Given the description of an element on the screen output the (x, y) to click on. 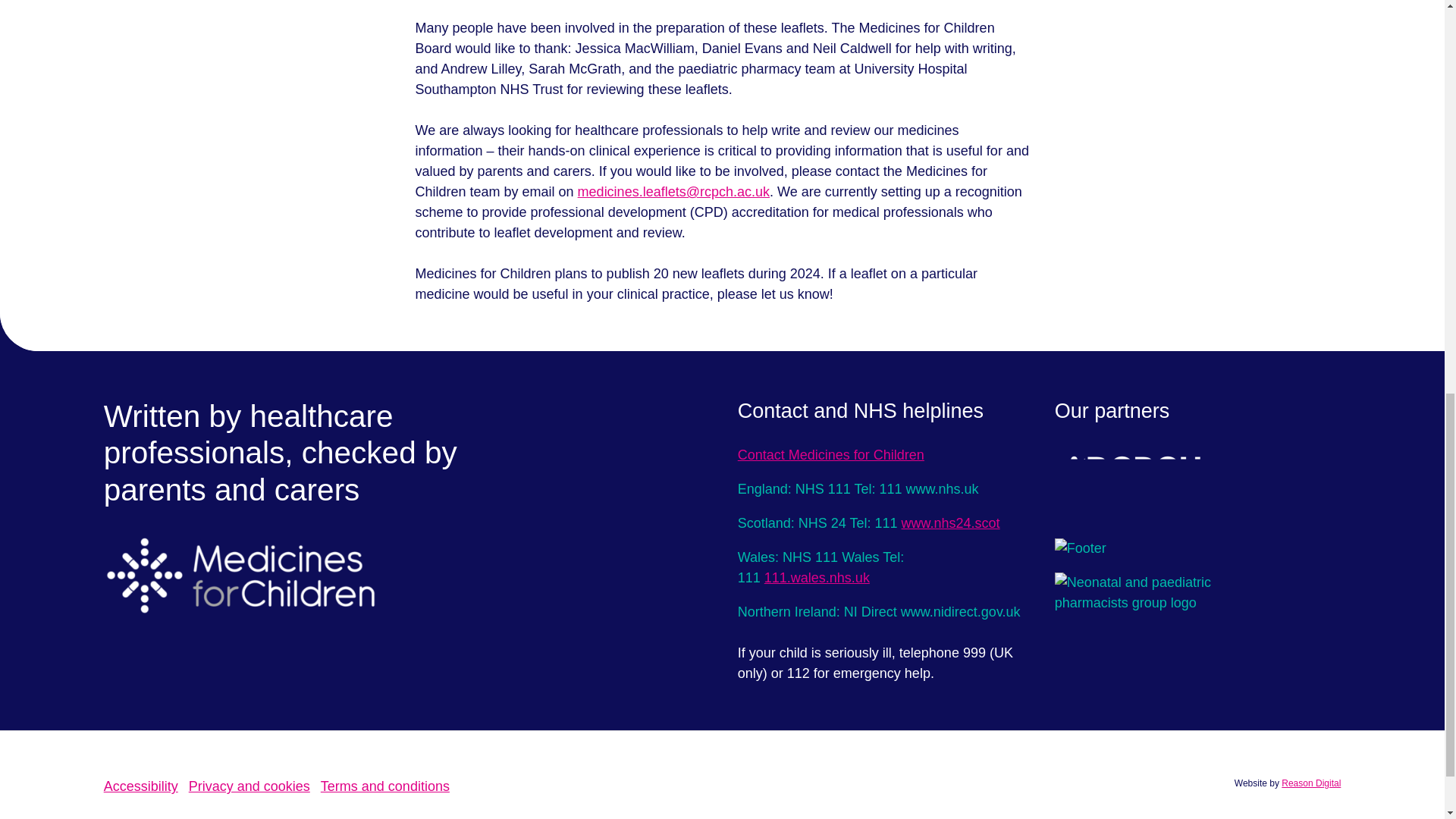
Contact Medicines for Children (831, 454)
Terms and conditions (384, 785)
111.wales.nhs.uk (816, 577)
Privacy and cookies (249, 785)
www.nhs24.scot (950, 522)
Reason Digital (1310, 783)
Accessibility (140, 785)
